Given the description of an element on the screen output the (x, y) to click on. 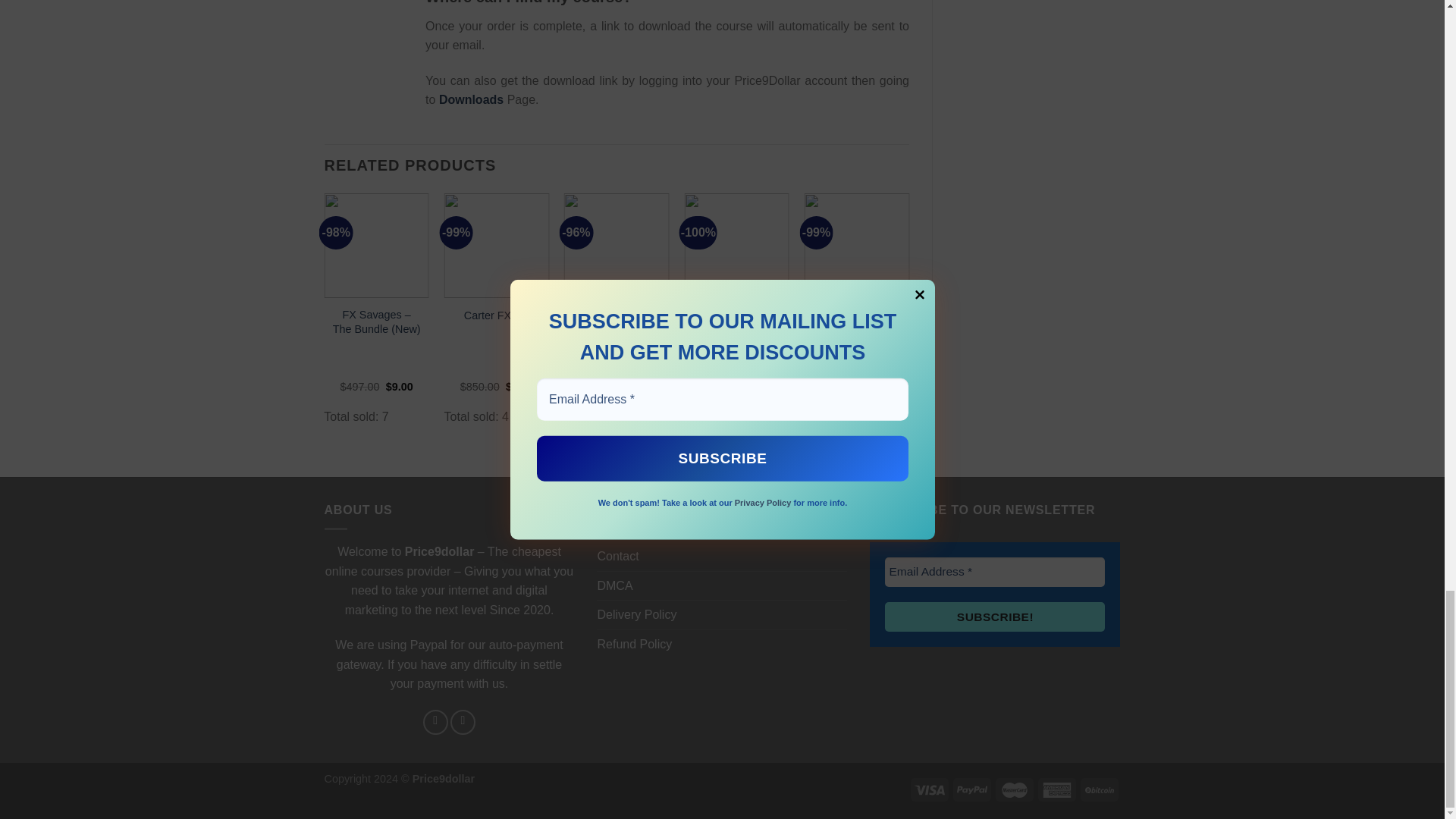
Email Address (995, 572)
Subscribe! (995, 616)
